Given the description of an element on the screen output the (x, y) to click on. 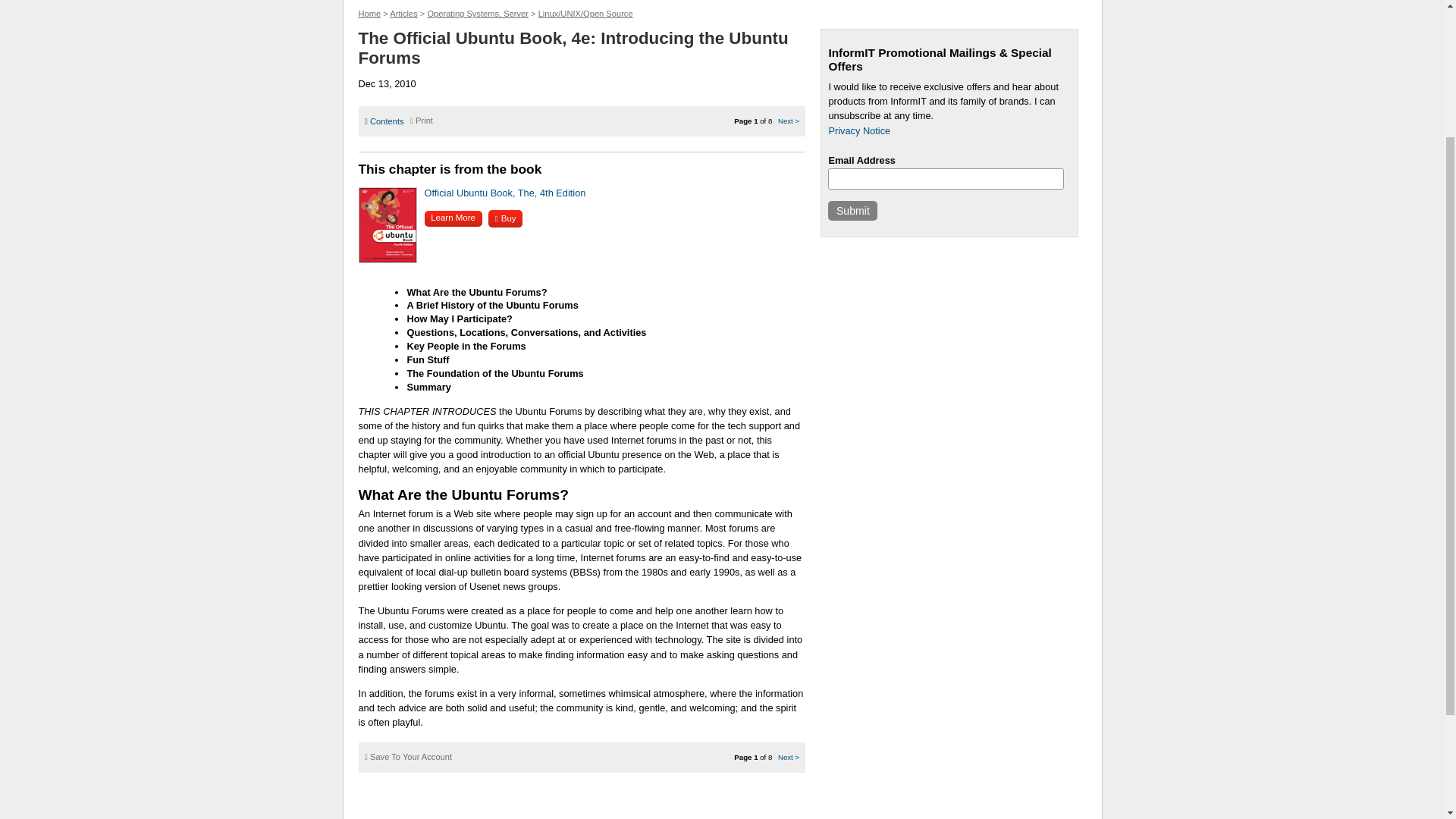
Home (369, 13)
Articles (403, 13)
Learn More (453, 218)
Submit (852, 210)
Official Ubuntu Book, The, 4th Edition (505, 193)
Privacy Notice (858, 130)
Submit (852, 210)
Operating Systems, Server (477, 13)
Print (421, 120)
